Given the description of an element on the screen output the (x, y) to click on. 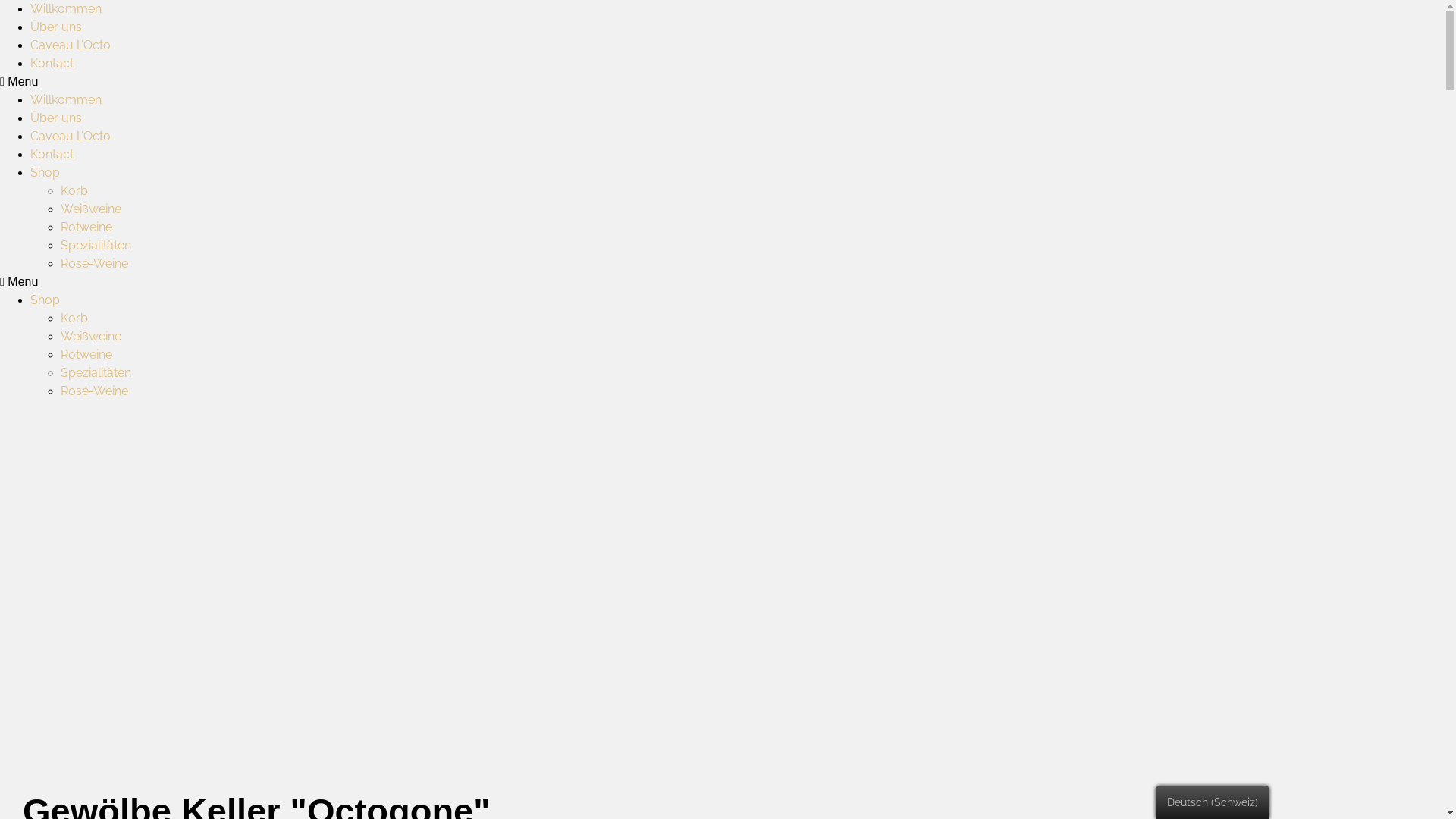
Korb Element type: text (73, 317)
Kontact Element type: text (51, 154)
Shop Element type: text (44, 172)
Shop Element type: text (44, 299)
Rotweine Element type: text (86, 226)
Kontact Element type: text (51, 63)
Korb Element type: text (73, 190)
Willkommen Element type: text (65, 99)
Rotweine Element type: text (86, 354)
Willkommen Element type: text (65, 8)
